Given the description of an element on the screen output the (x, y) to click on. 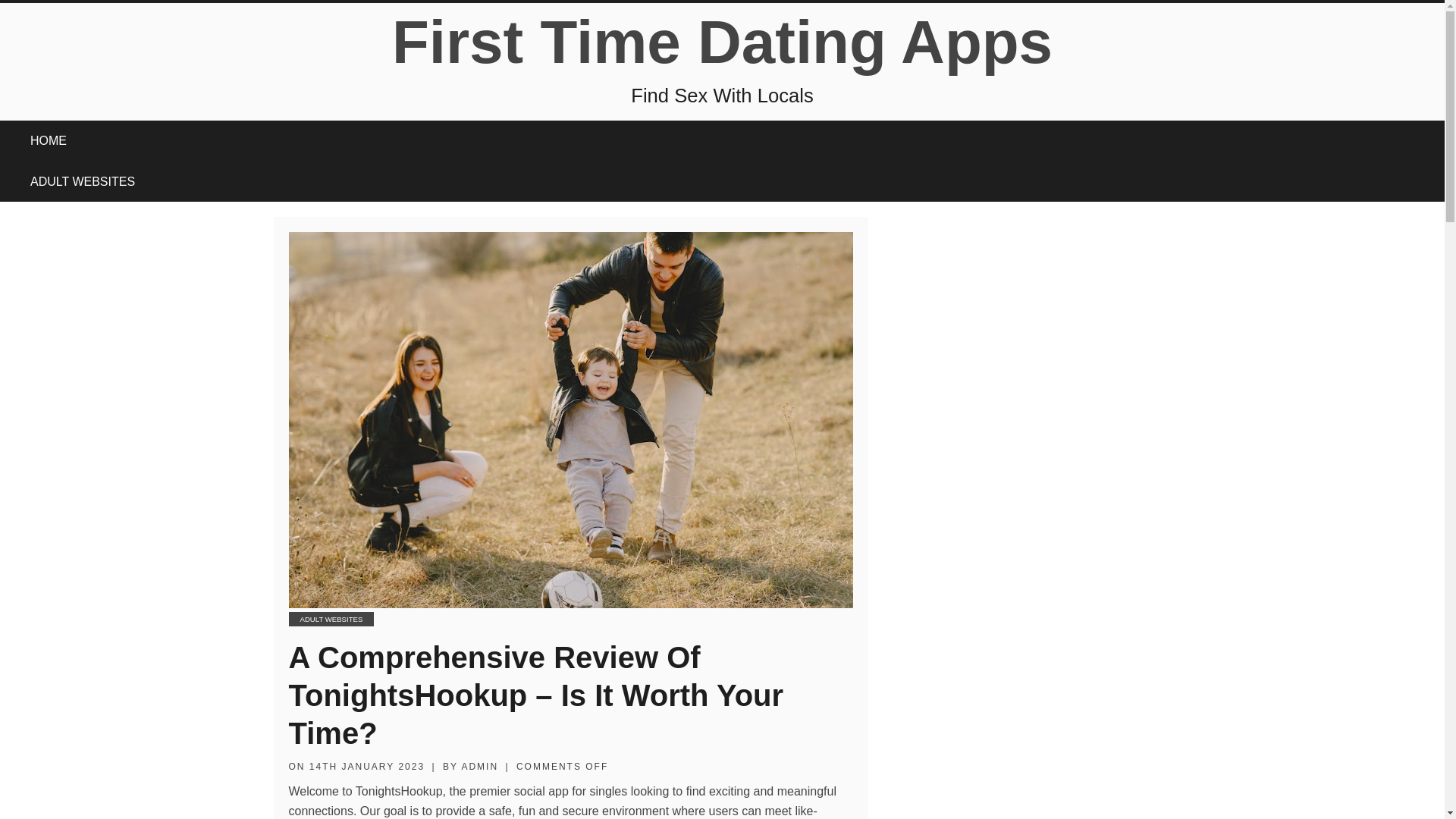
ADULT WEBSITES (81, 181)
First Time Dating Apps (721, 42)
14TH JANUARY 2023 (366, 766)
HOME (47, 140)
ADULT WEBSITES (331, 618)
ADMIN (479, 766)
